Given the description of an element on the screen output the (x, y) to click on. 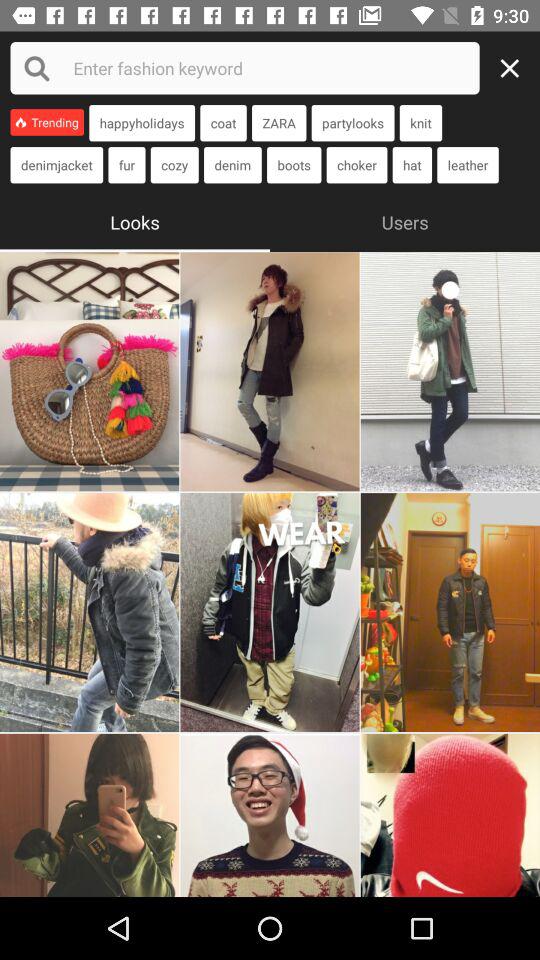
select to emojios (269, 612)
